Given the description of an element on the screen output the (x, y) to click on. 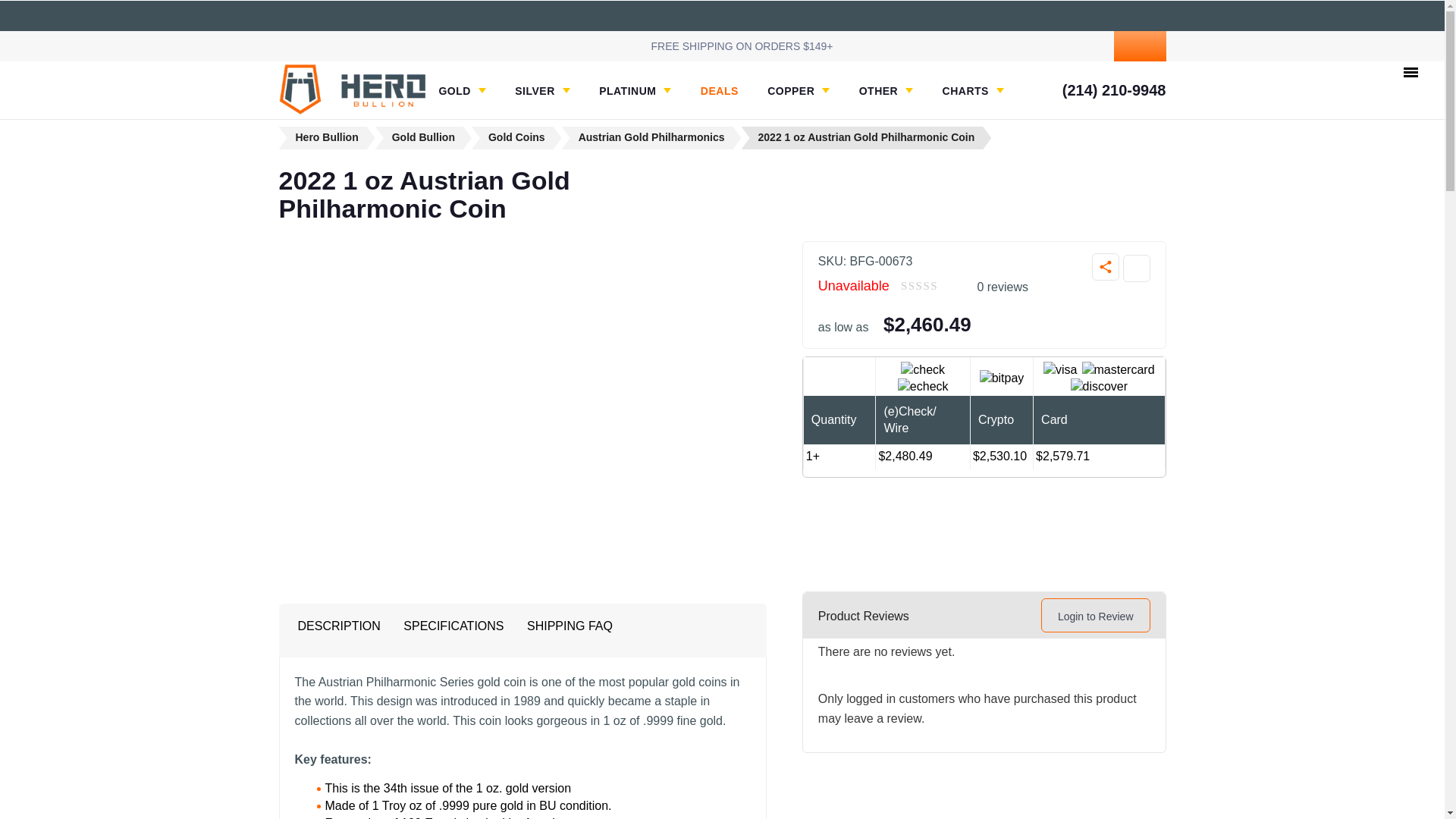
Cart (1139, 46)
GOLD (461, 91)
SILVER (542, 91)
Search (1026, 46)
Compare (1136, 267)
Share (1105, 266)
